Given the description of an element on the screen output the (x, y) to click on. 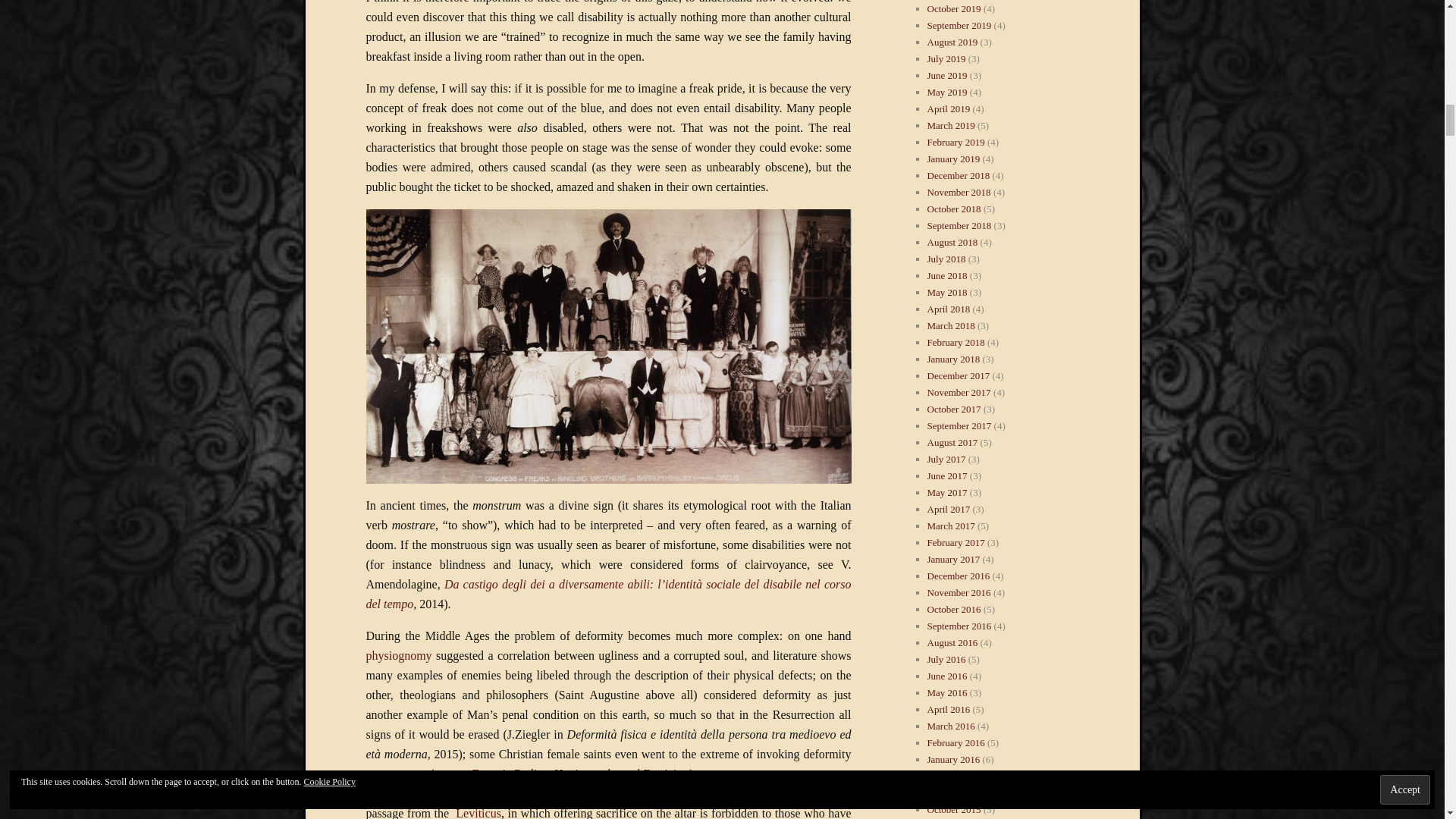
Ecstatic Bodies: Hagiography and Eroticism (579, 773)
physiognomy (397, 655)
Leviticus (477, 812)
